Given the description of an element on the screen output the (x, y) to click on. 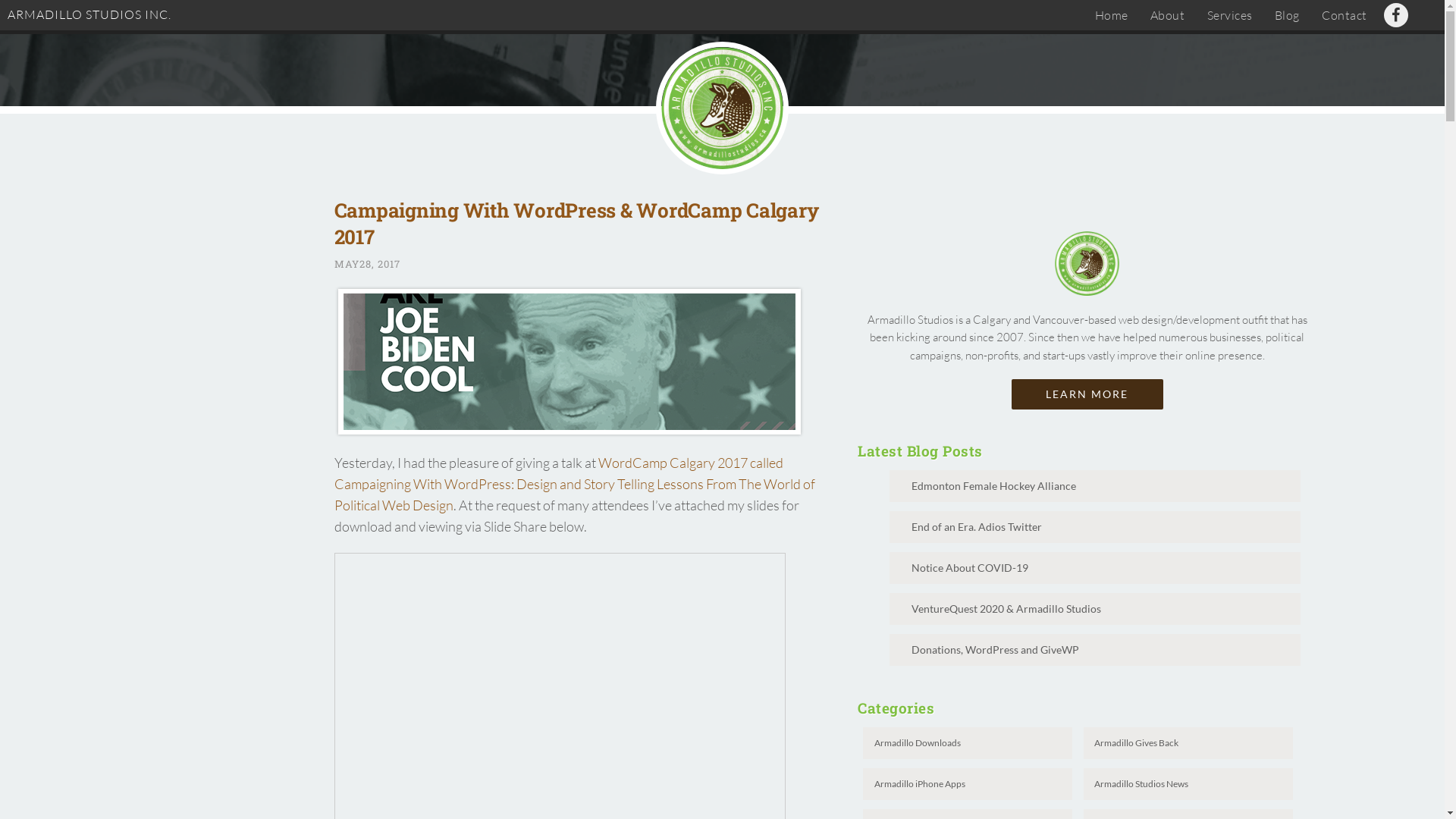
Home Element type: text (1111, 14)
Contact Element type: text (1344, 14)
Edmonton Female Hockey Alliance Element type: text (1094, 486)
Notice About COVID-19 Element type: text (1094, 567)
Armadillo Downloads Element type: text (967, 743)
Services Element type: text (1229, 14)
ARMADILLO STUDIOS INC. Element type: text (89, 13)
About Element type: text (1167, 14)
Armadillo Studios News Element type: text (1187, 784)
Armadillo Gives Back Element type: text (1187, 743)
Armadillo iPhone Apps Element type: text (967, 784)
LEARN MORE Element type: text (1087, 394)
Visit Our New Facebook Page Element type: hover (1395, 15)
Blog Element type: text (1286, 14)
VentureQuest 2020 & Armadillo Studios Element type: text (1094, 608)
End of an Era. Adios Twitter Element type: text (1094, 526)
Campaigning With WordPress & WordCamp Calgary 2017 Element type: text (575, 223)
Donations, WordPress and GiveWP Element type: text (1094, 649)
